Given the description of an element on the screen output the (x, y) to click on. 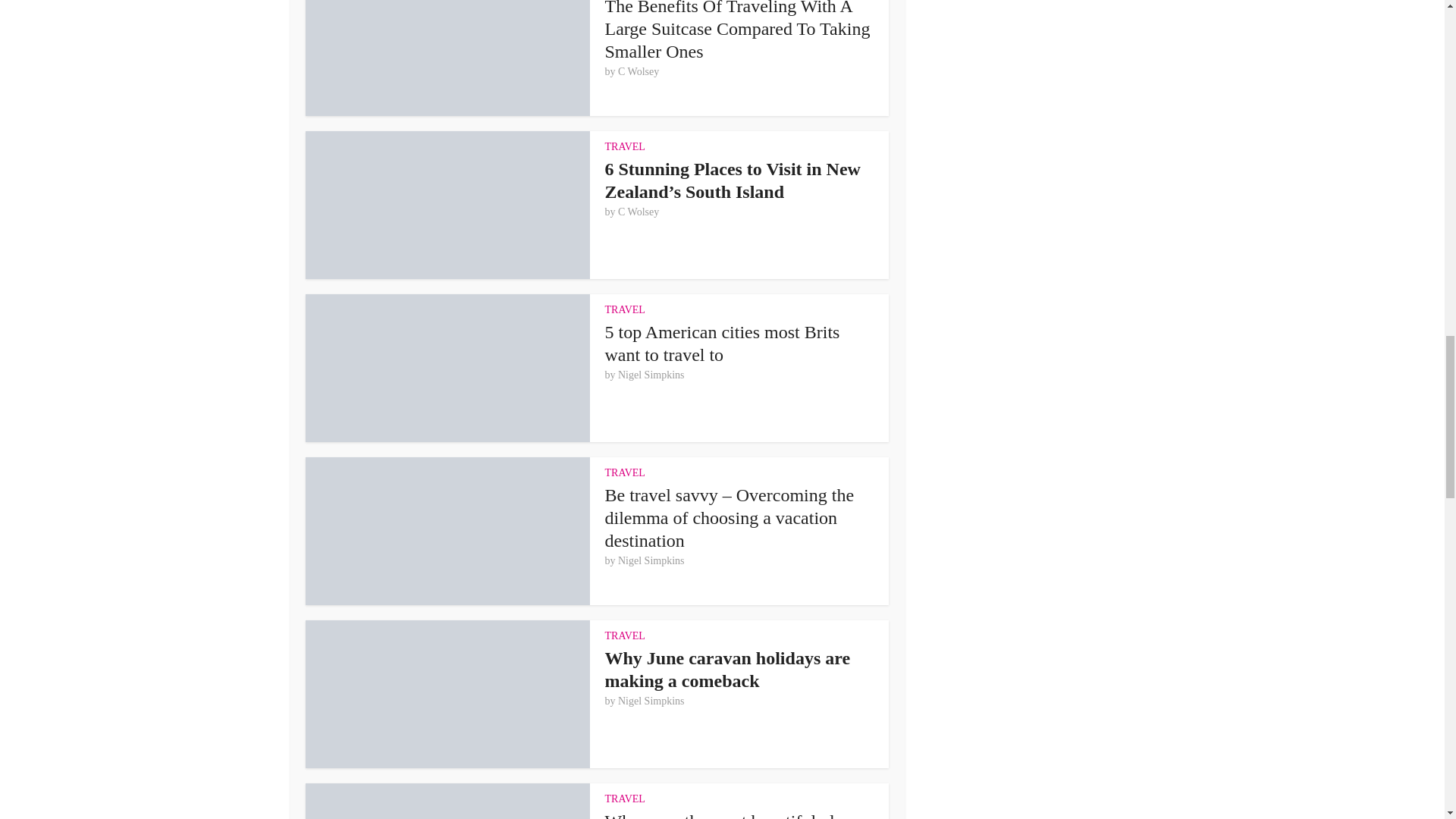
Nigel Simpkins (650, 701)
Where are the most beautiful places to camp In Europe ? (735, 815)
C Wolsey (638, 71)
TRAVEL (625, 635)
5 top American cities most Brits want to travel to (722, 343)
Nigel Simpkins (650, 375)
Nigel Simpkins (650, 561)
TRAVEL (625, 309)
5 top American cities most Brits want to travel to (722, 343)
